Given the description of an element on the screen output the (x, y) to click on. 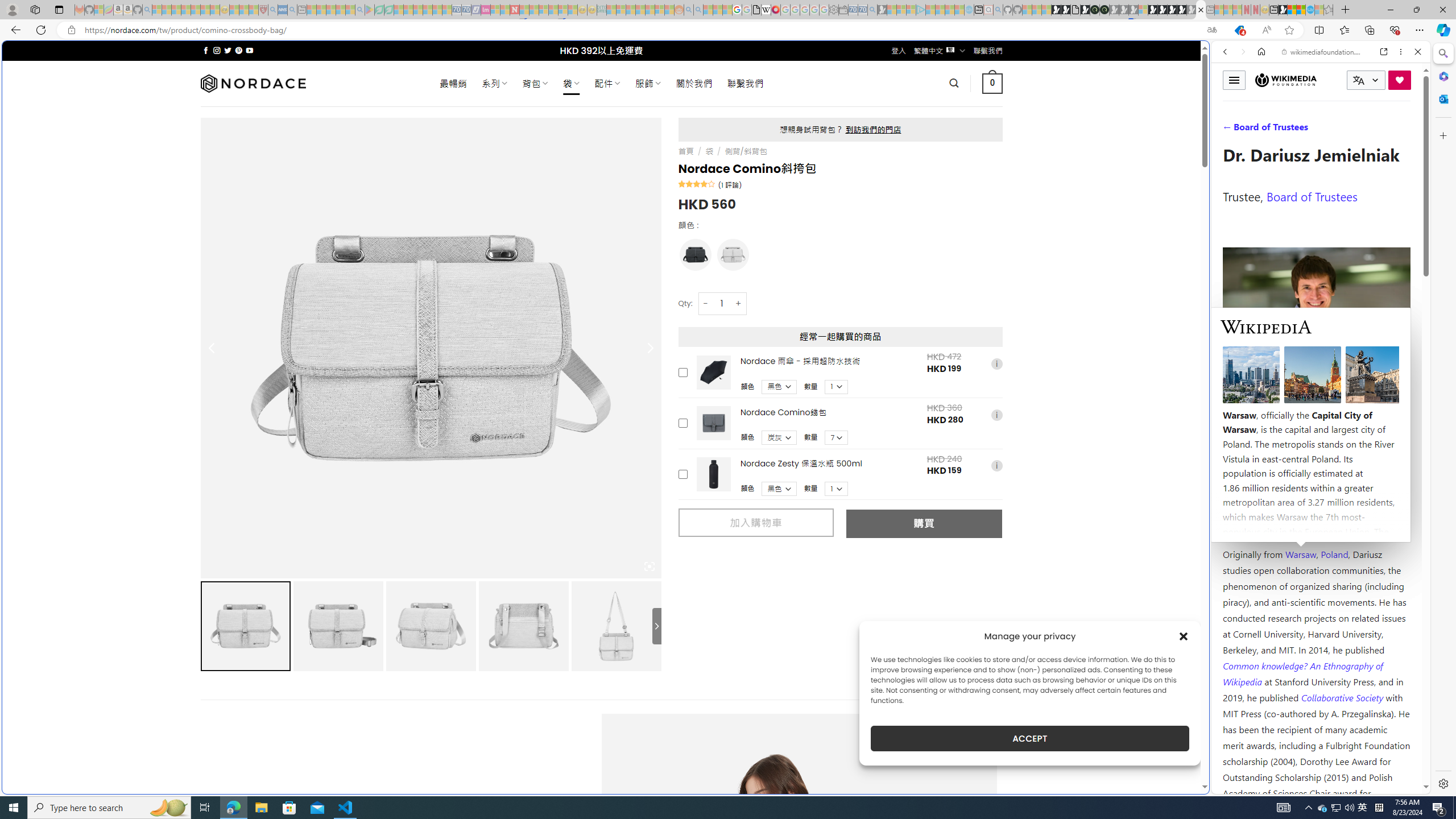
Poland (1334, 554)
wikimediafoundation.org (1323, 51)
CURRENT LANGUAGE: (1366, 80)
